Given the description of an element on the screen output the (x, y) to click on. 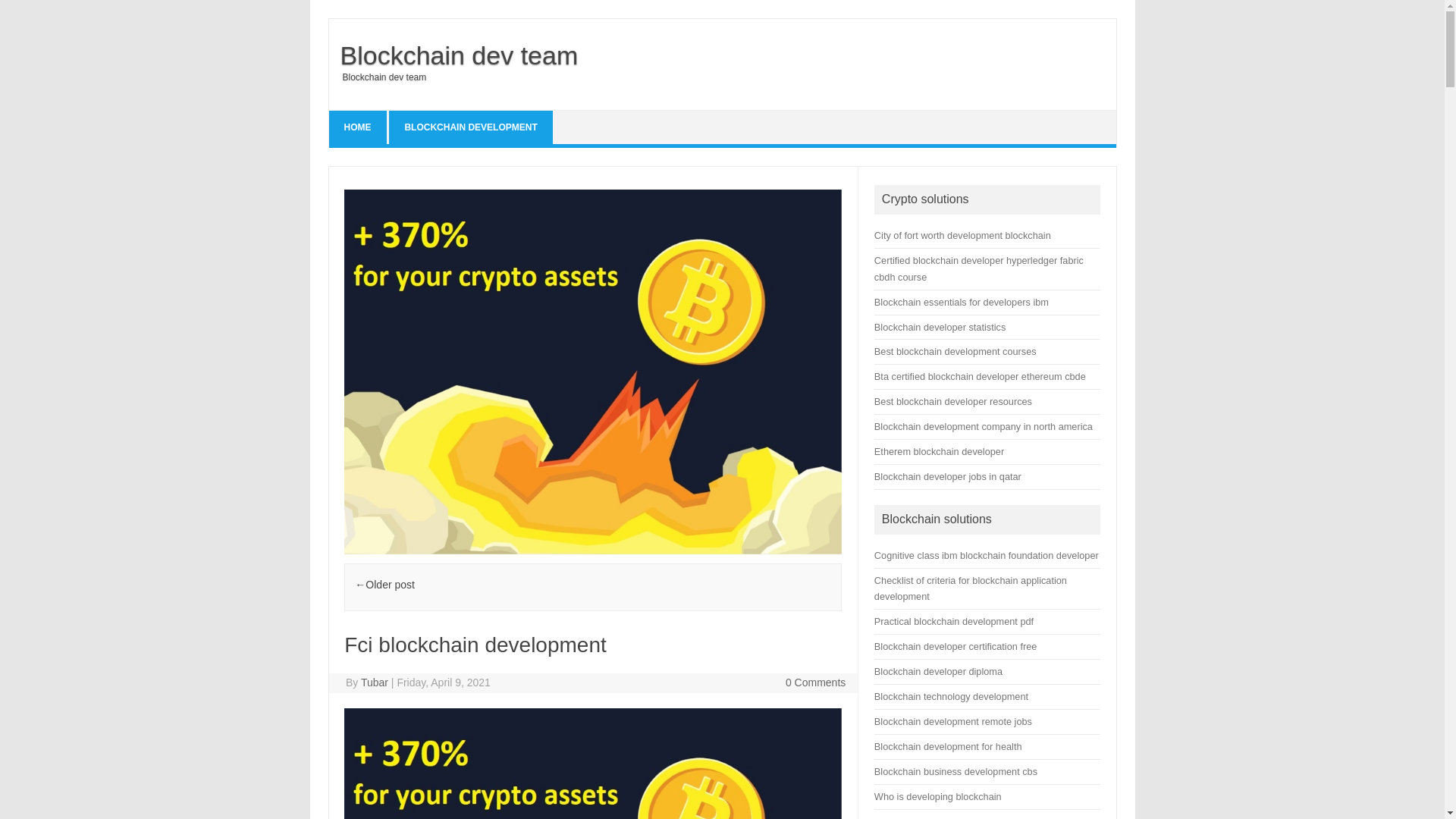
Blockchain essentials for developers ibm (961, 301)
BLOCKCHAIN DEVELOPMENT (469, 127)
Checklist of criteria for blockchain application development (971, 588)
Best blockchain developer resources (953, 401)
Etherem blockchain developer (939, 451)
HOME (358, 127)
Tubar (374, 682)
Blockchain dev team (453, 54)
Practical blockchain development pdf (954, 621)
Blockchain development remote jobs (953, 721)
